Given the description of an element on the screen output the (x, y) to click on. 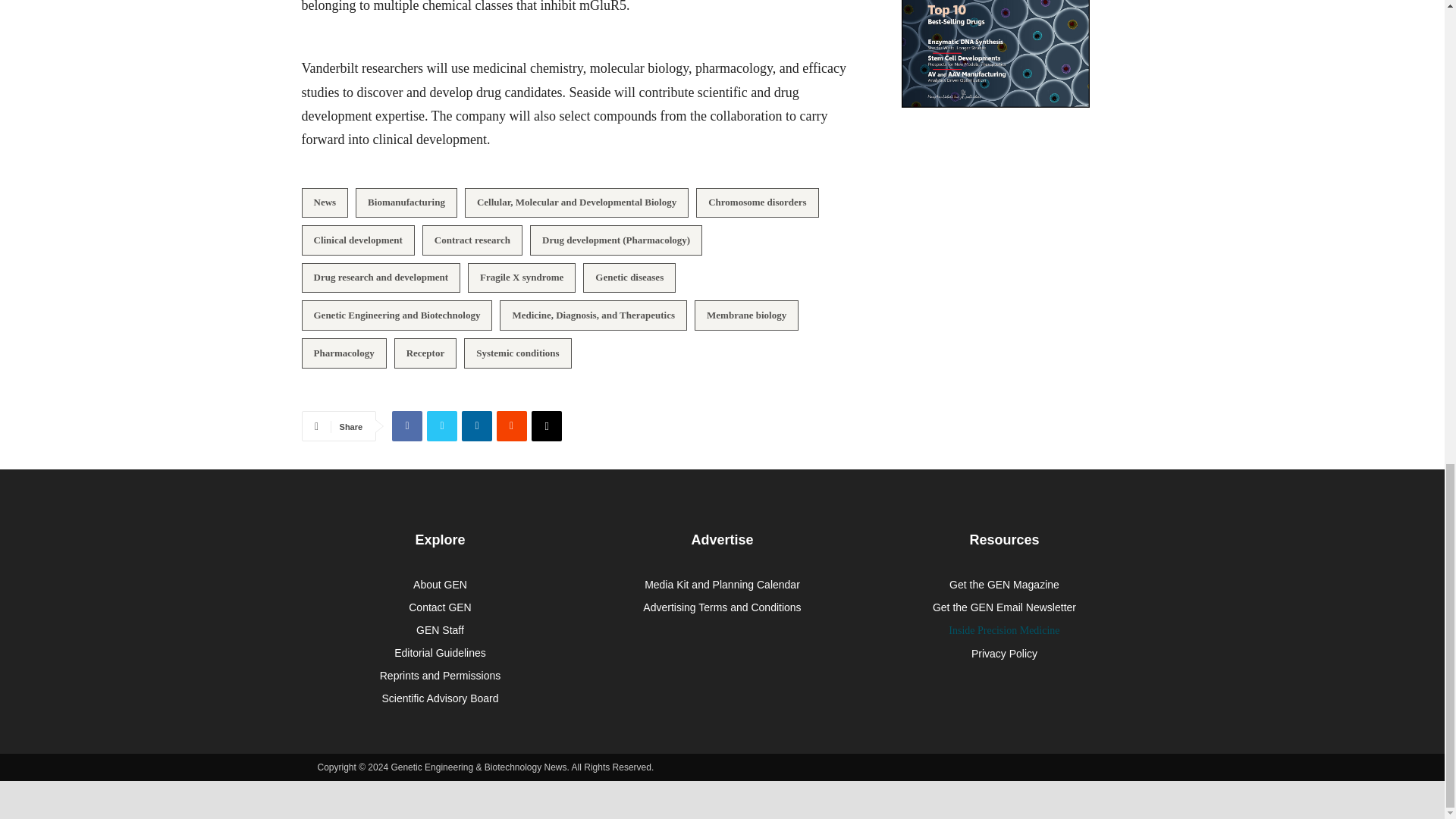
Facebook (406, 426)
